Given the description of an element on the screen output the (x, y) to click on. 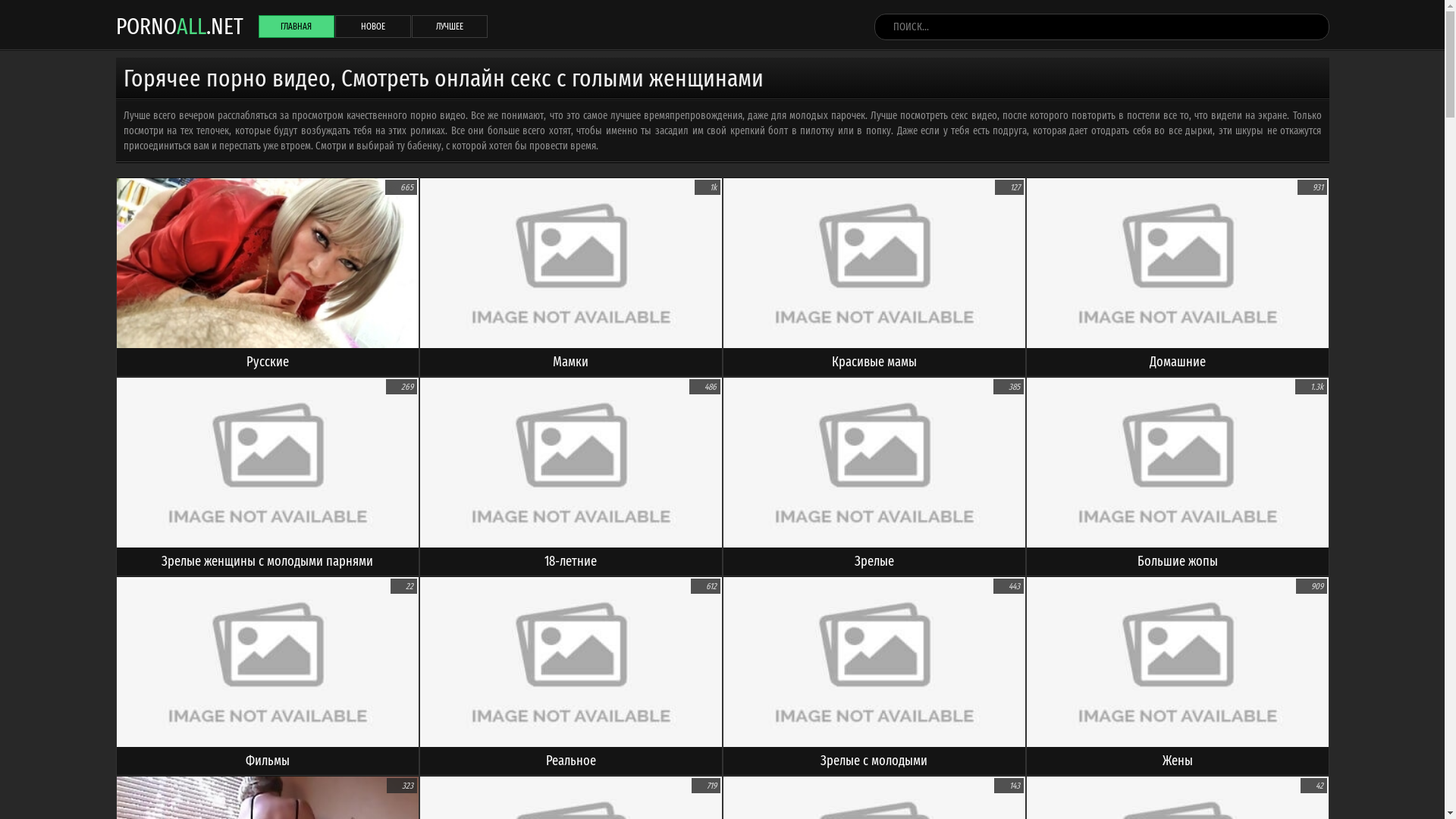
PORNOALL.NET Element type: text (178, 25)
